Given the description of an element on the screen output the (x, y) to click on. 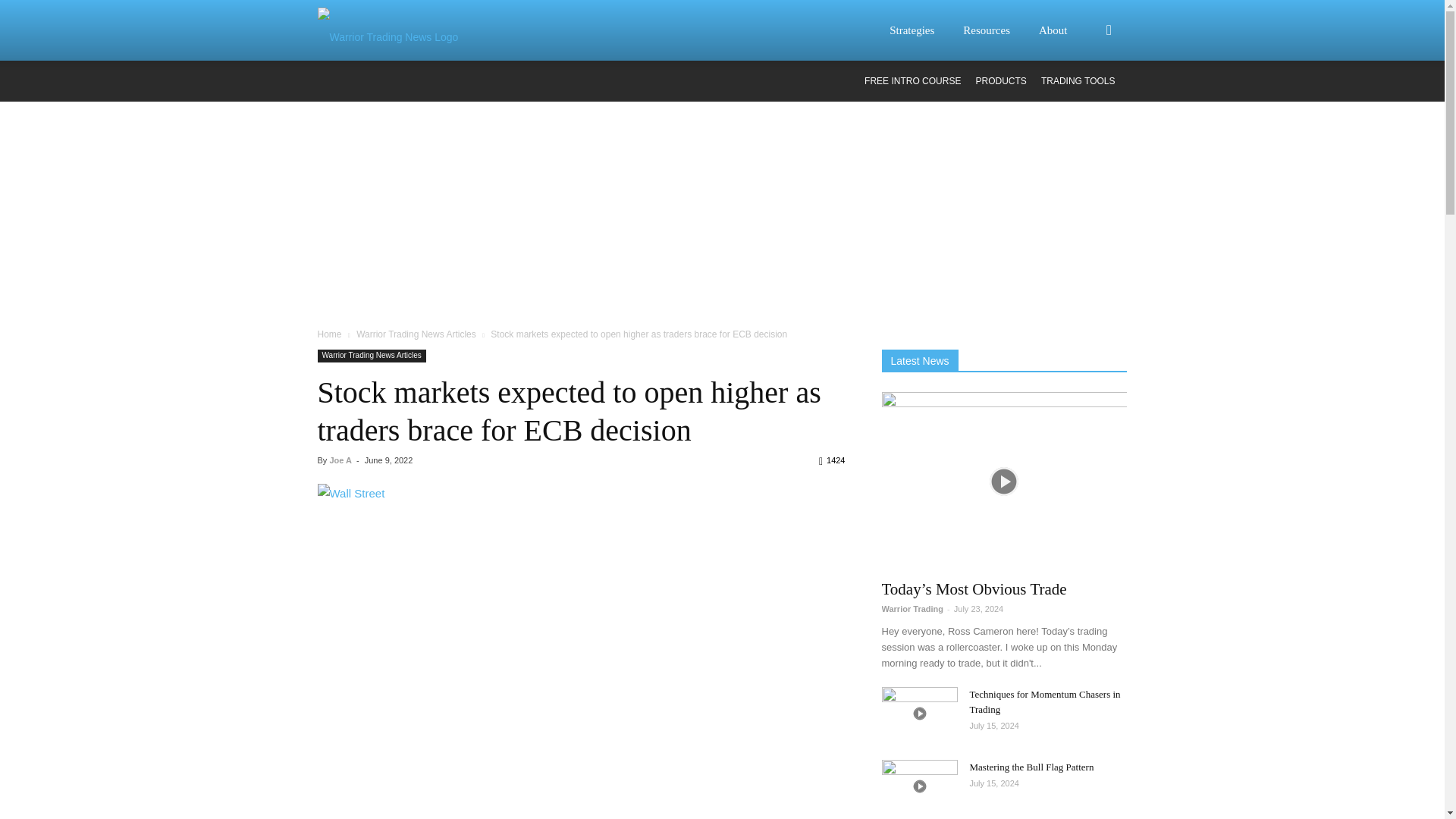
Techniques for Momentum Chasers in Trading (918, 713)
FREE INTRO COURSE (912, 81)
Strategies (920, 30)
PRODUCTS (1000, 81)
Resources (995, 30)
View all posts in Warrior Trading News Articles (416, 334)
About (1061, 30)
